Given the description of an element on the screen output the (x, y) to click on. 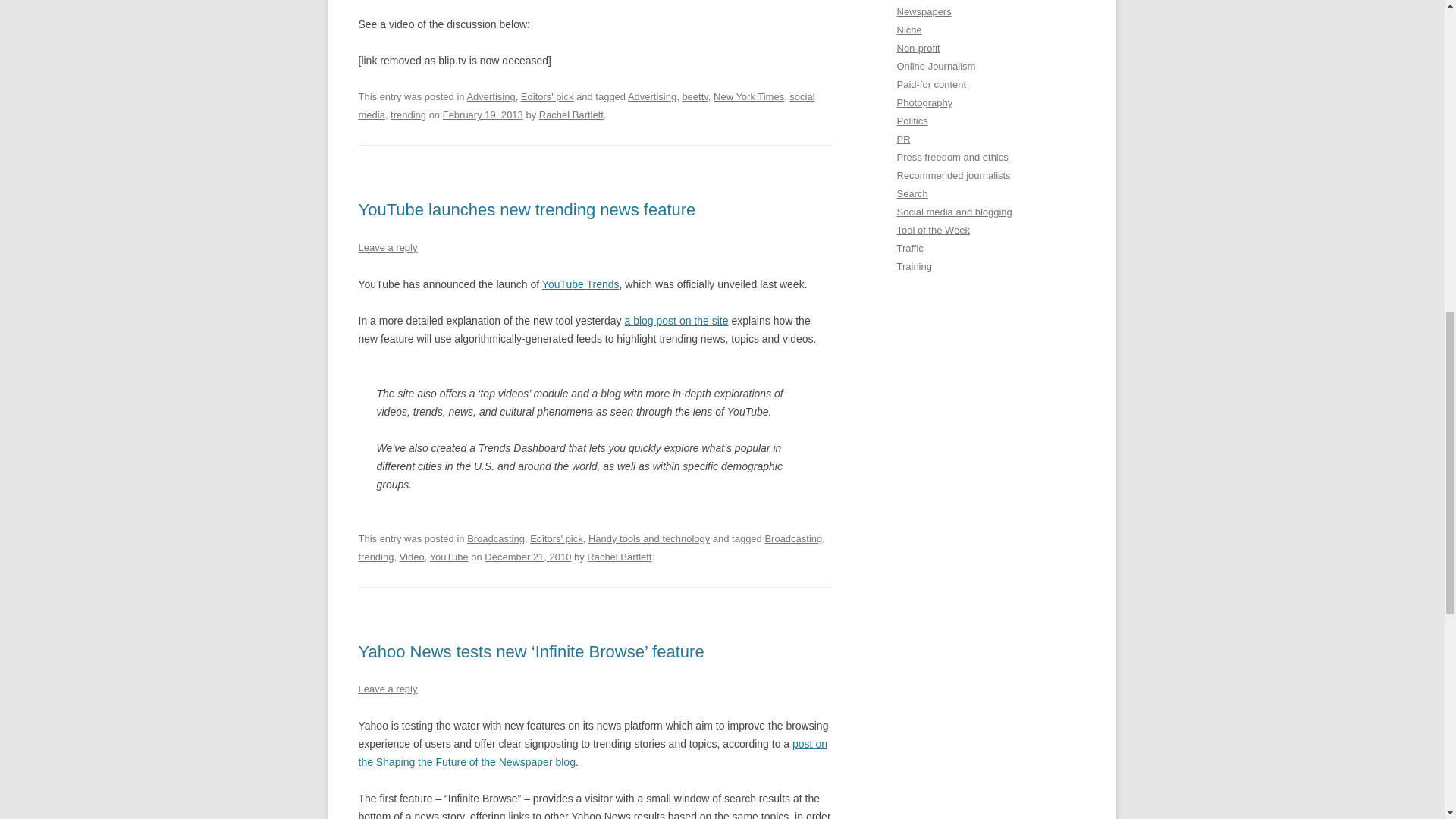
Broadcasting (793, 538)
12:09 pm (482, 114)
YouTube Trends (580, 284)
beettv (694, 96)
SFN.com blog (592, 752)
youtube trends (580, 284)
post on the Shaping the Future of the Newspaper blog (592, 752)
trending (375, 556)
trending (408, 114)
11:46 am (527, 556)
YouTube launches new trending news feature (526, 209)
a blog post on the site (676, 320)
Editors' pick (547, 96)
Advertising (490, 96)
social media (585, 105)
